Given the description of an element on the screen output the (x, y) to click on. 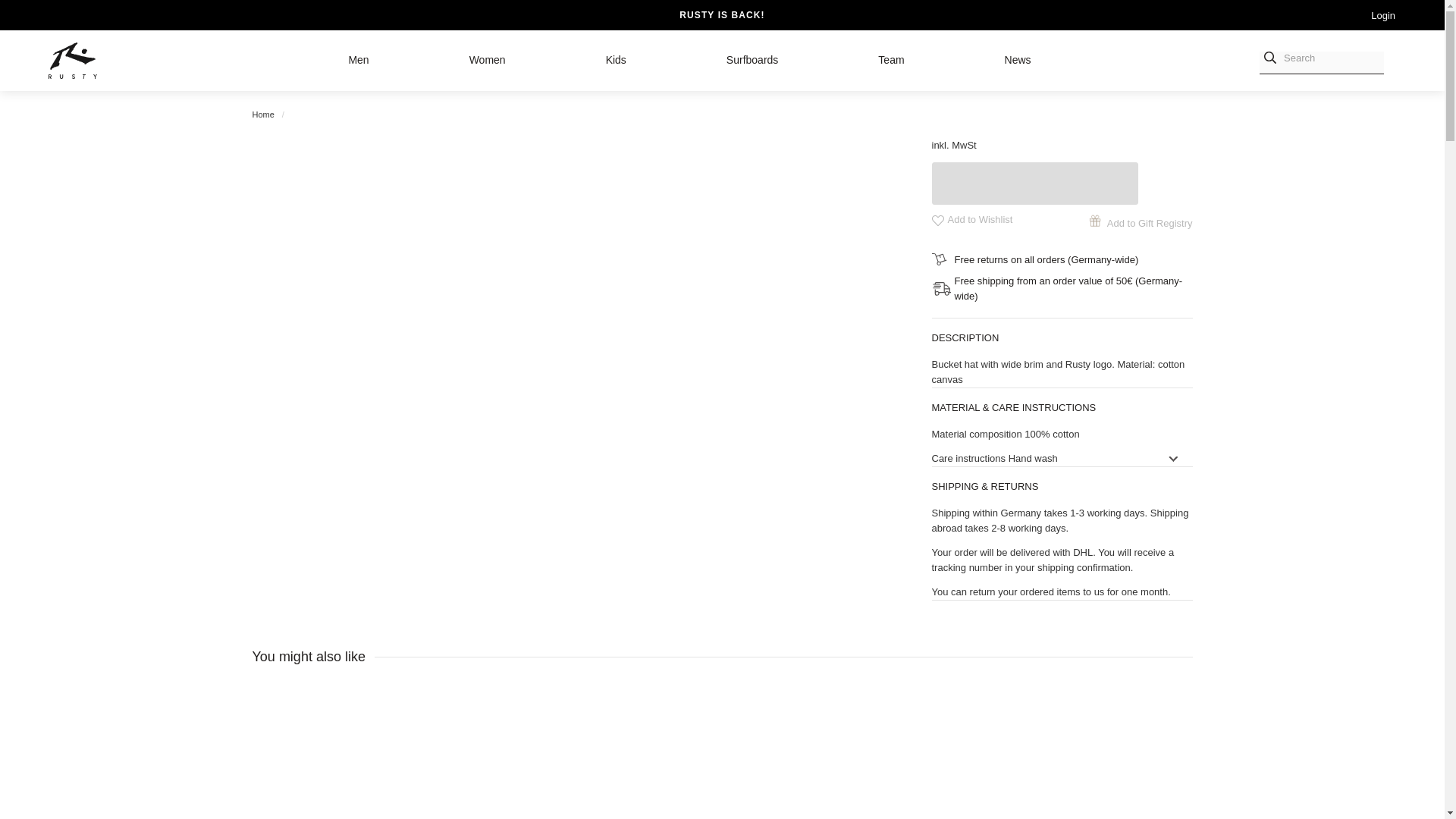
Women (449, 60)
Home (262, 113)
Login (1382, 15)
Men (320, 60)
